Given the description of an element on the screen output the (x, y) to click on. 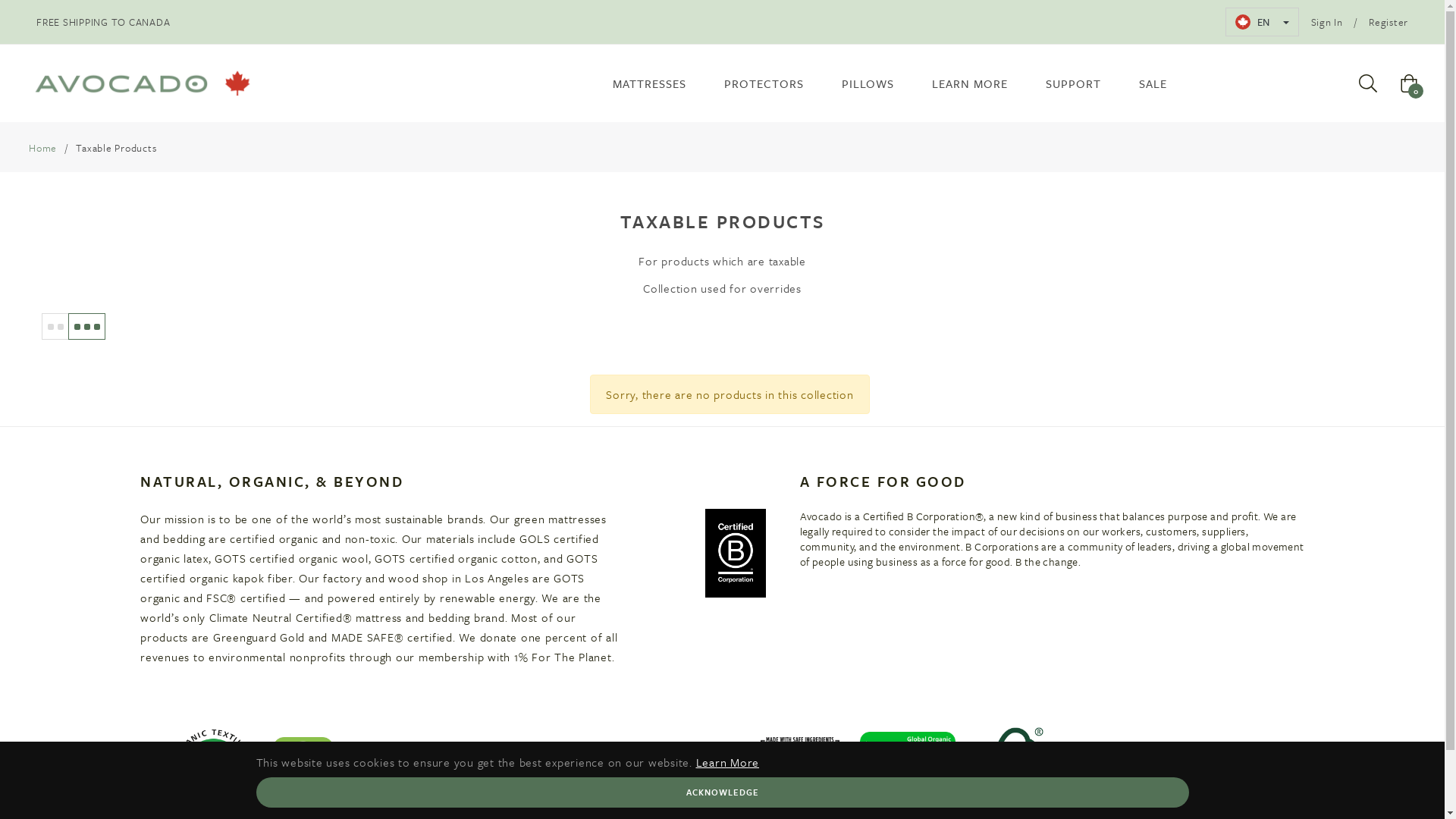
SUPPORT Element type: text (1073, 83)
MATTRESSES Element type: text (649, 83)
Learn More Element type: text (727, 761)
LEARN MORE Element type: text (969, 83)
Sign In Element type: text (1326, 21)
ACKNOWLEDGE Element type: text (722, 792)
PROTECTORS Element type: text (763, 83)
PILLOWS Element type: text (867, 83)
SALE Element type: text (1153, 83)
Home Element type: text (42, 147)
EN Element type: text (1262, 21)
Register Element type: text (1388, 21)
